Given the description of an element on the screen output the (x, y) to click on. 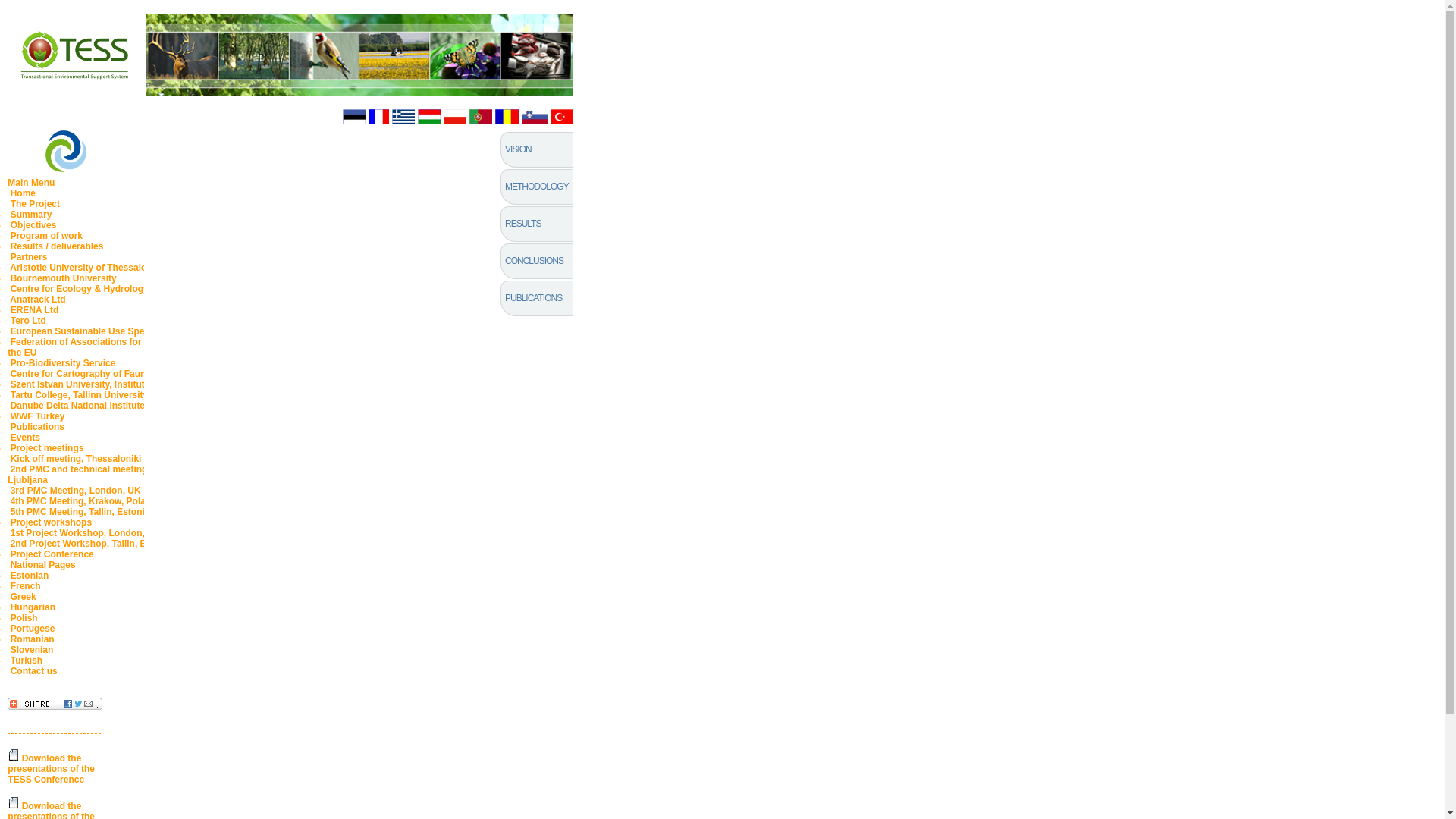
 4th PMC Meeting, Krakow, Poland  (82, 501)
 3rd PMC Meeting, London, UK  (74, 490)
 Home  (22, 193)
 ERENA Ltd  (34, 309)
 Events  (24, 437)
 Summary  (30, 214)
 Centre for Cartography of Fauna and Flora  (101, 373)
 Program of work  (45, 235)
Project Description in French (378, 116)
 Kick off meeting, Thessaloniki  (74, 458)
